Given the description of an element on the screen output the (x, y) to click on. 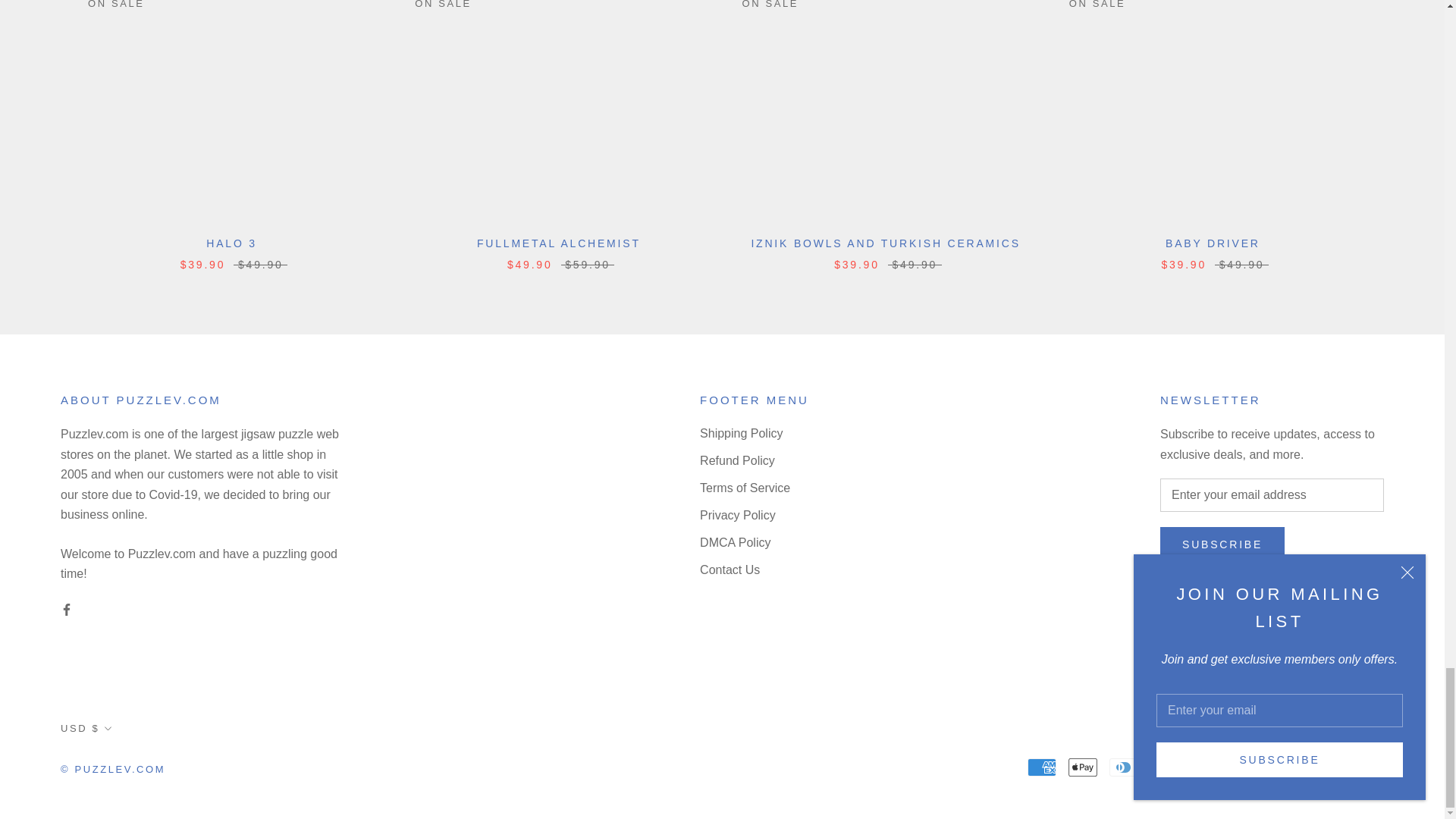
Discover (1164, 767)
Apple Pay (1082, 767)
Diners Club (1123, 767)
American Express (1042, 767)
